Given the description of an element on the screen output the (x, y) to click on. 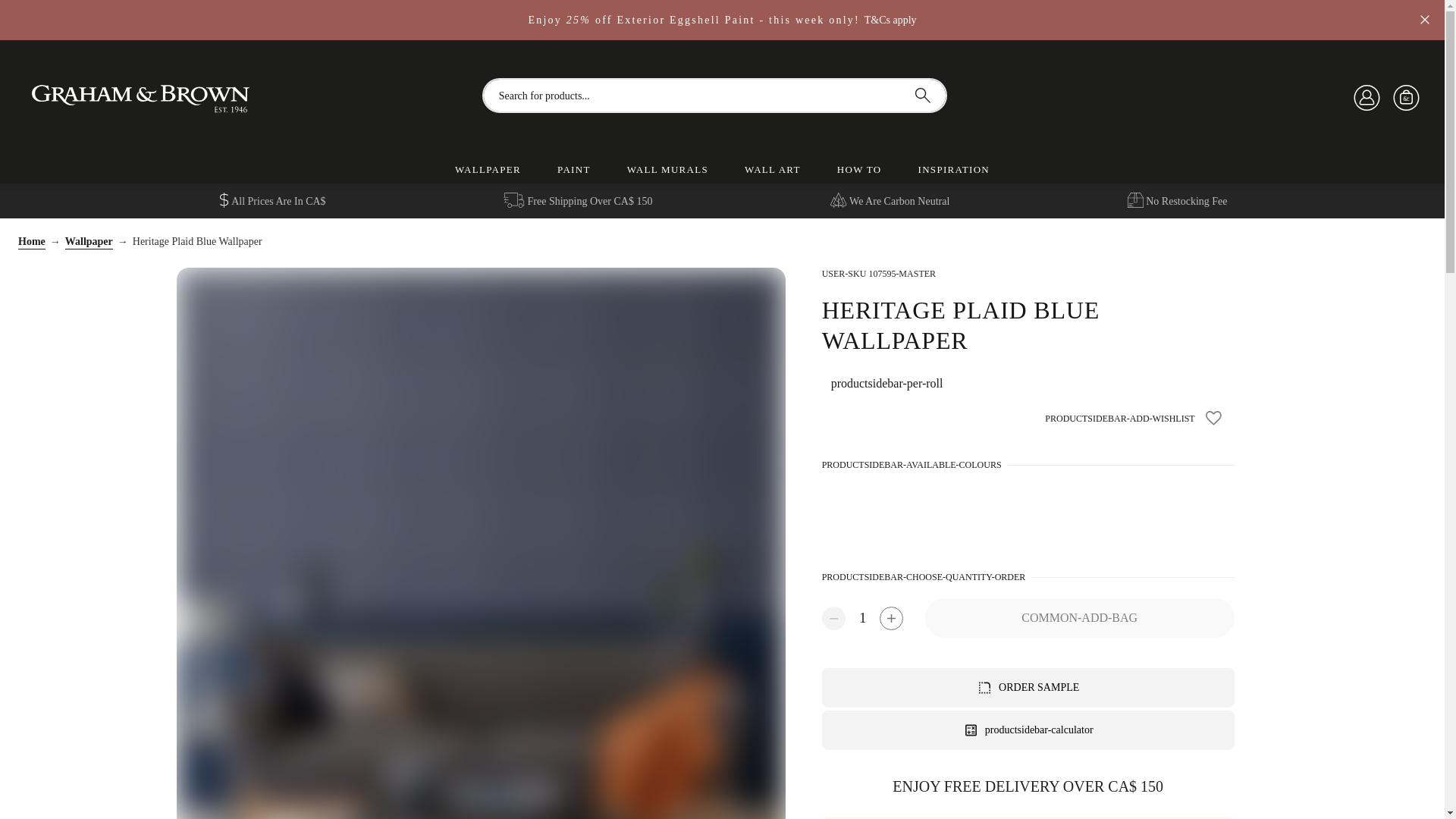
Heritage Plaid Plum Wallpaper (906, 513)
1 (862, 617)
navbar-title (160, 95)
productview-go-to Wallpaper (89, 242)
Heritage Plaid Charcoal Wallpaper (964, 513)
common-add-bag (1079, 618)
order sample (1038, 687)
productsidebar-save-later (1214, 418)
WALLPAPER (487, 169)
